Given the description of an element on the screen output the (x, y) to click on. 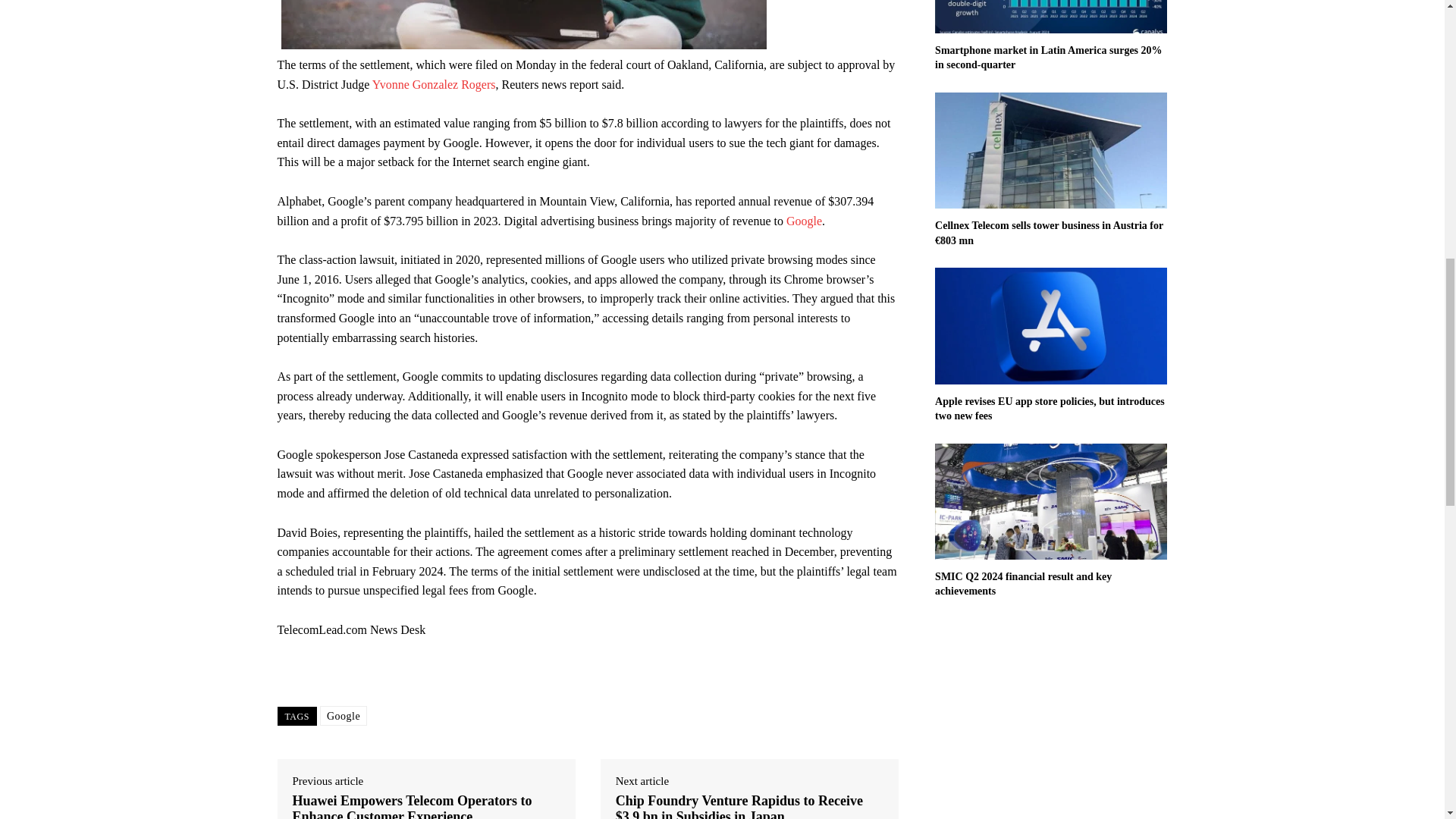
Google (343, 715)
SMIC Q2 2024 financial result and key achievements (1050, 501)
SMIC Q2 2024 financial result and key achievements (1023, 583)
Google (804, 220)
Yvonne Gonzalez Rogers (434, 83)
SMIC Q2 2024 financial result and key achievements (1023, 583)
